Given the description of an element on the screen output the (x, y) to click on. 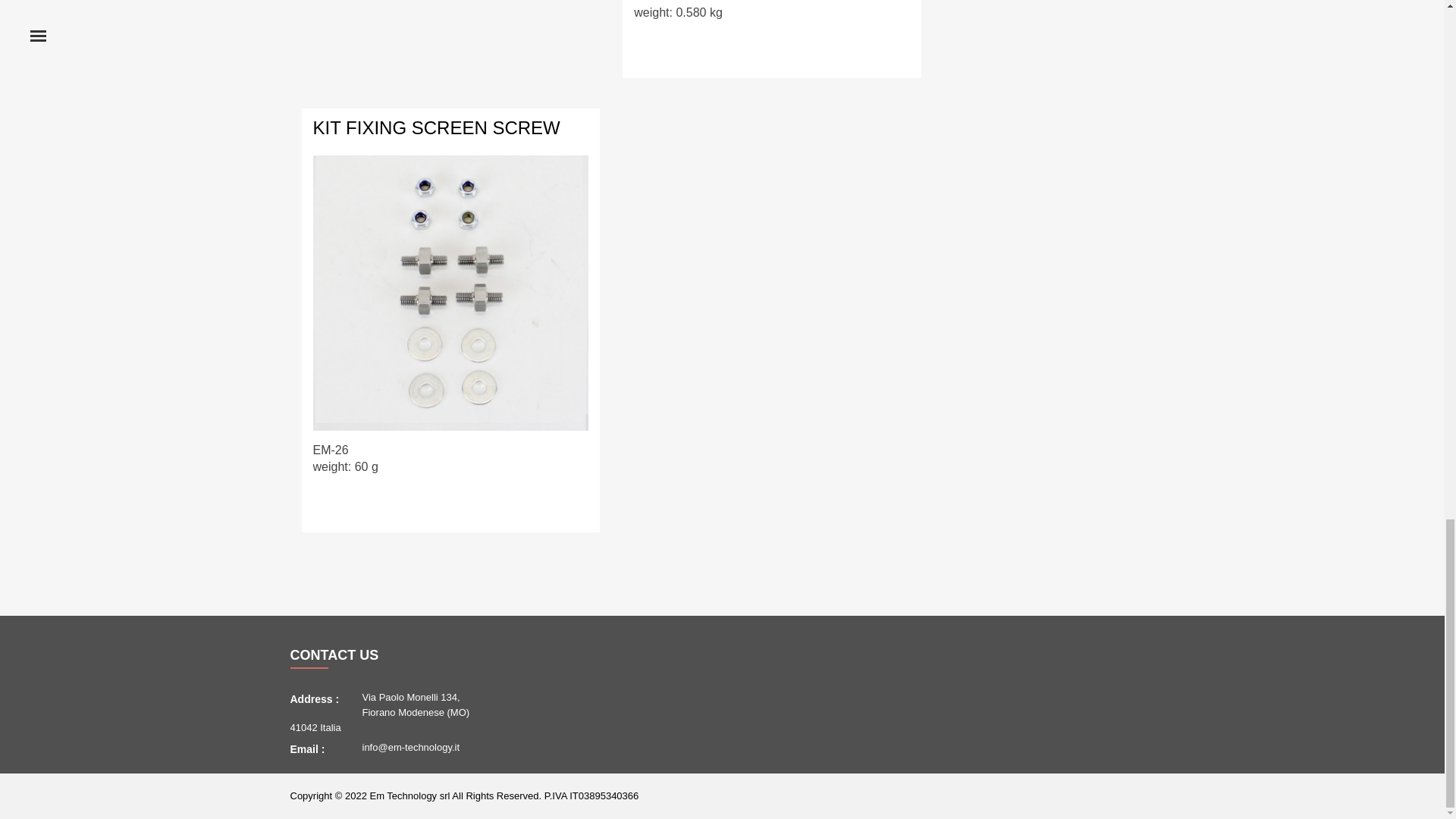
KIT FIXING SCREEN SCREW (436, 127)
